Given the description of an element on the screen output the (x, y) to click on. 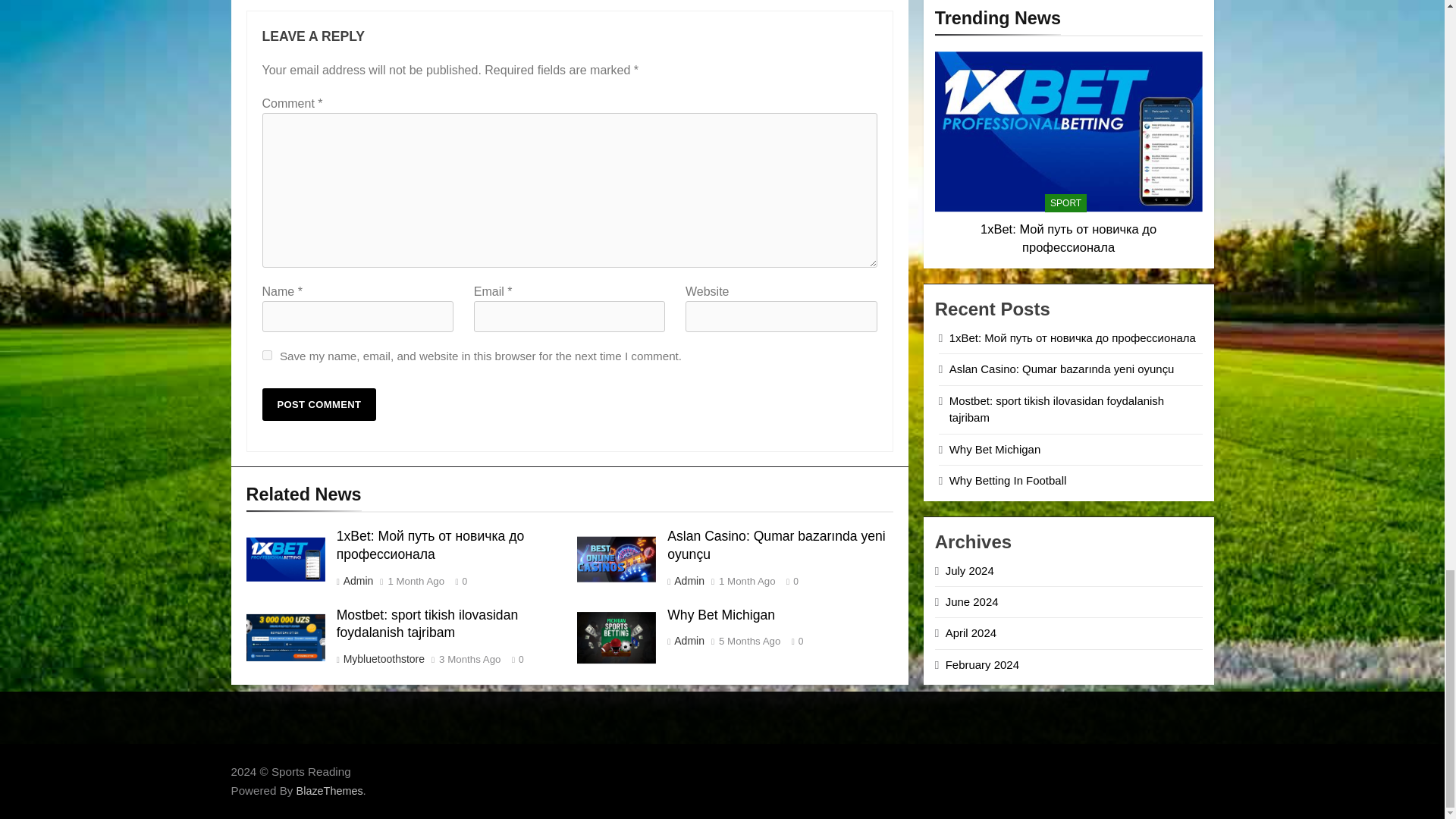
0 (457, 580)
Admin (357, 580)
Admin (688, 580)
yes (267, 355)
0 (787, 580)
1 Month Ago (415, 581)
Post Comment (319, 404)
1 Month Ago (747, 581)
Post Comment (319, 404)
